Given the description of an element on the screen output the (x, y) to click on. 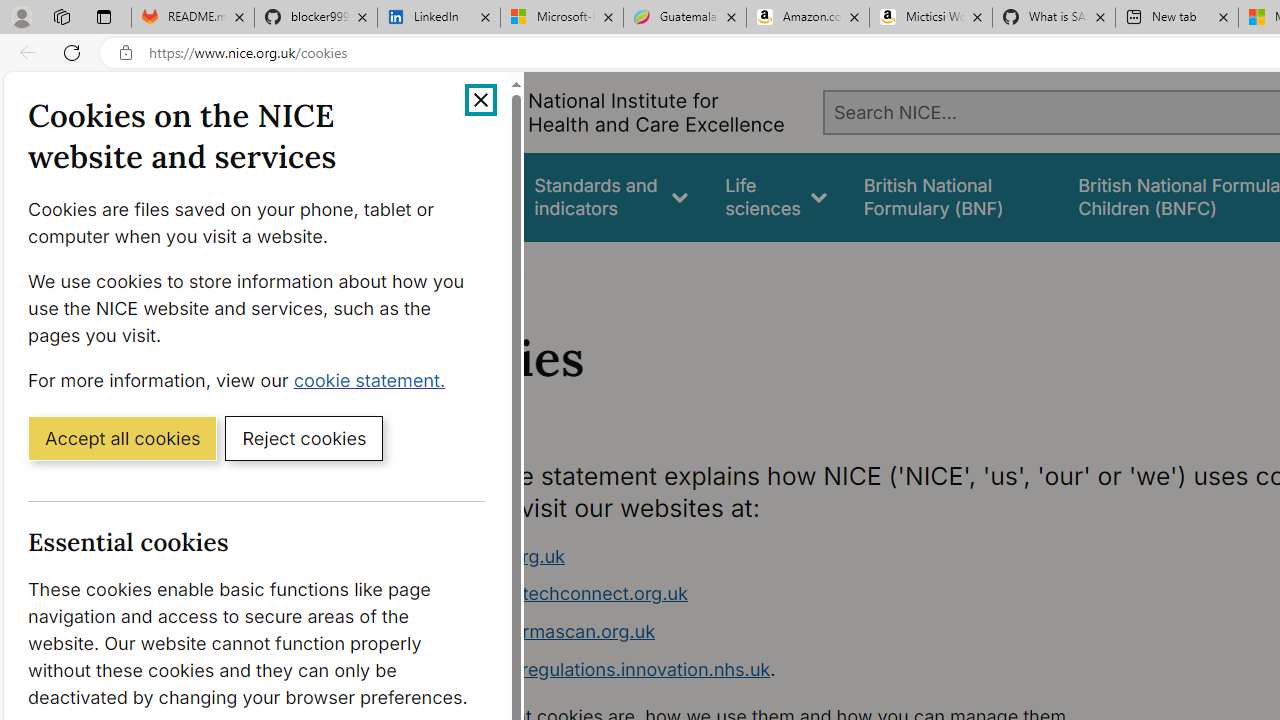
Life sciences (776, 196)
Guidance (458, 196)
Accept all cookies (122, 437)
www.healthtechconnect.org.uk (796, 594)
Close cookie banner (480, 99)
cookie statement. (Opens in a new window) (373, 379)
www.digitalregulations.innovation.nhs.uk. (796, 669)
